Given the description of an element on the screen output the (x, y) to click on. 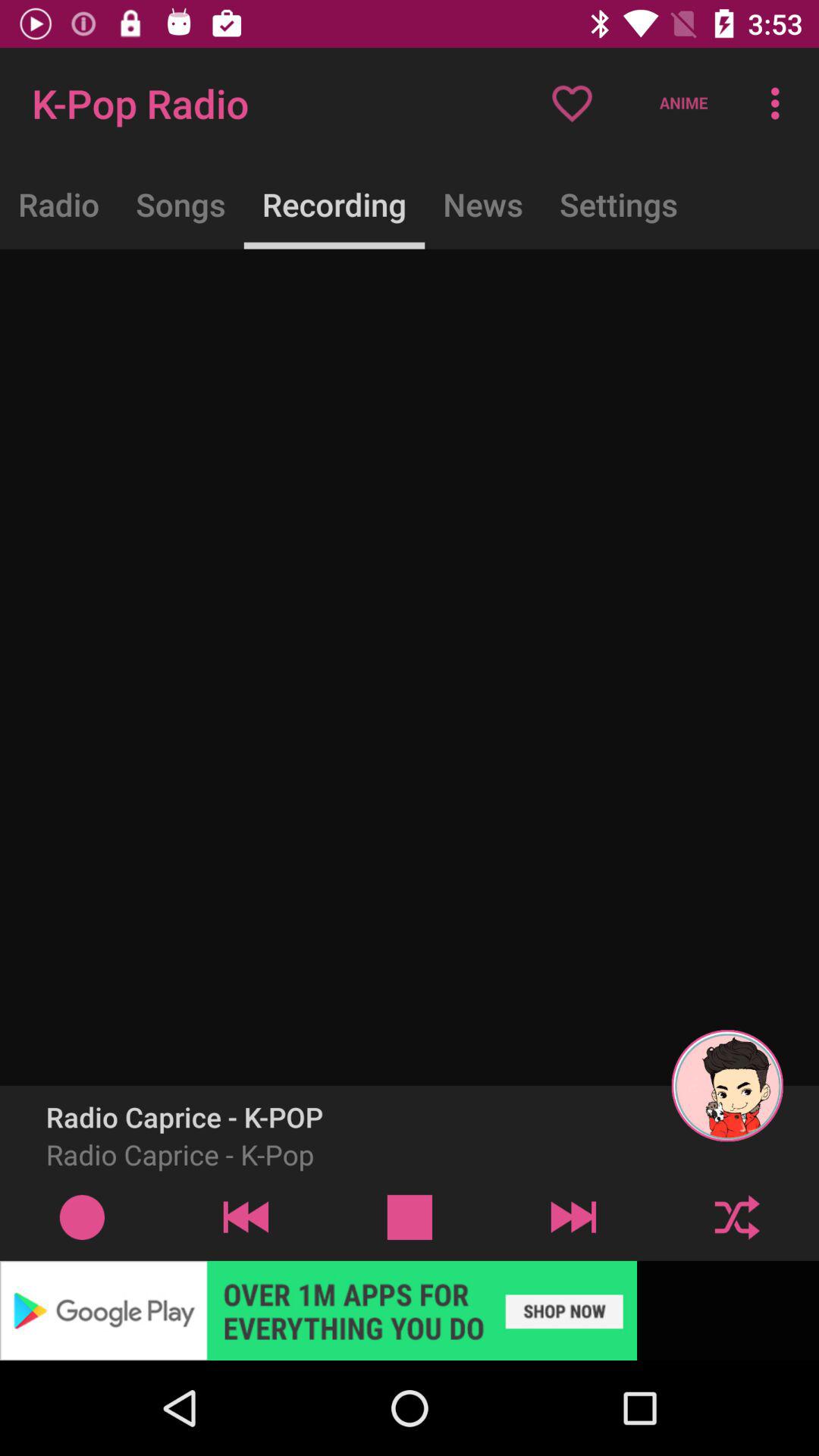
go to next (737, 1216)
